Given the description of an element on the screen output the (x, y) to click on. 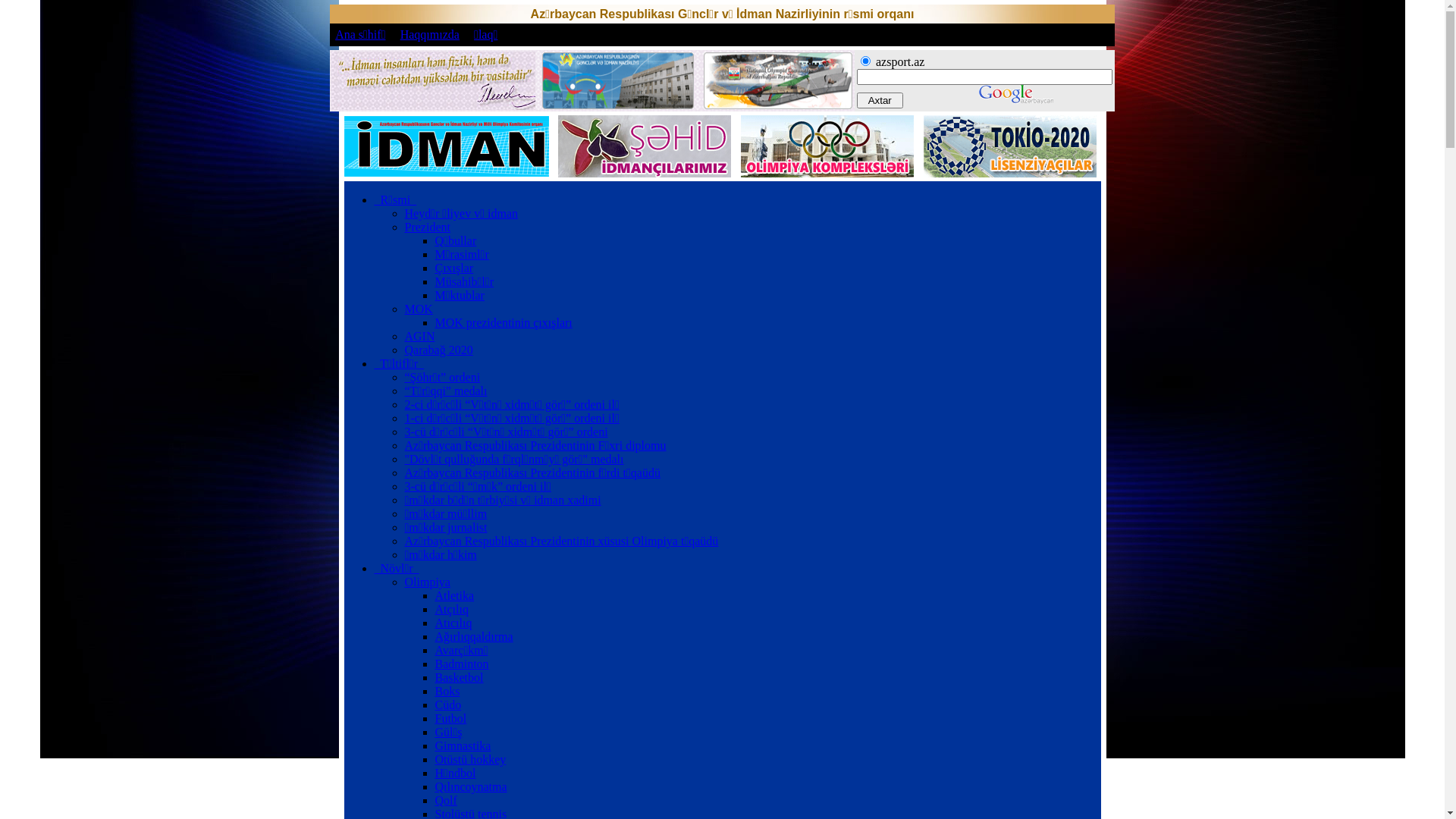
MOK Element type: text (418, 308)
the site Element type: text (865, 60)
Atletika Element type: text (454, 595)
AGIN Element type: text (419, 335)
Olimpiya Element type: text (427, 581)
Futbol Element type: text (451, 718)
  Axtar   Element type: text (879, 100)
Qolf Element type: text (446, 799)
Prezident Element type: text (427, 226)
Basketbol Element type: text (459, 677)
Boks Element type: text (447, 690)
Gimnastika Element type: text (463, 745)
Badminton Element type: text (462, 663)
